Given the description of an element on the screen output the (x, y) to click on. 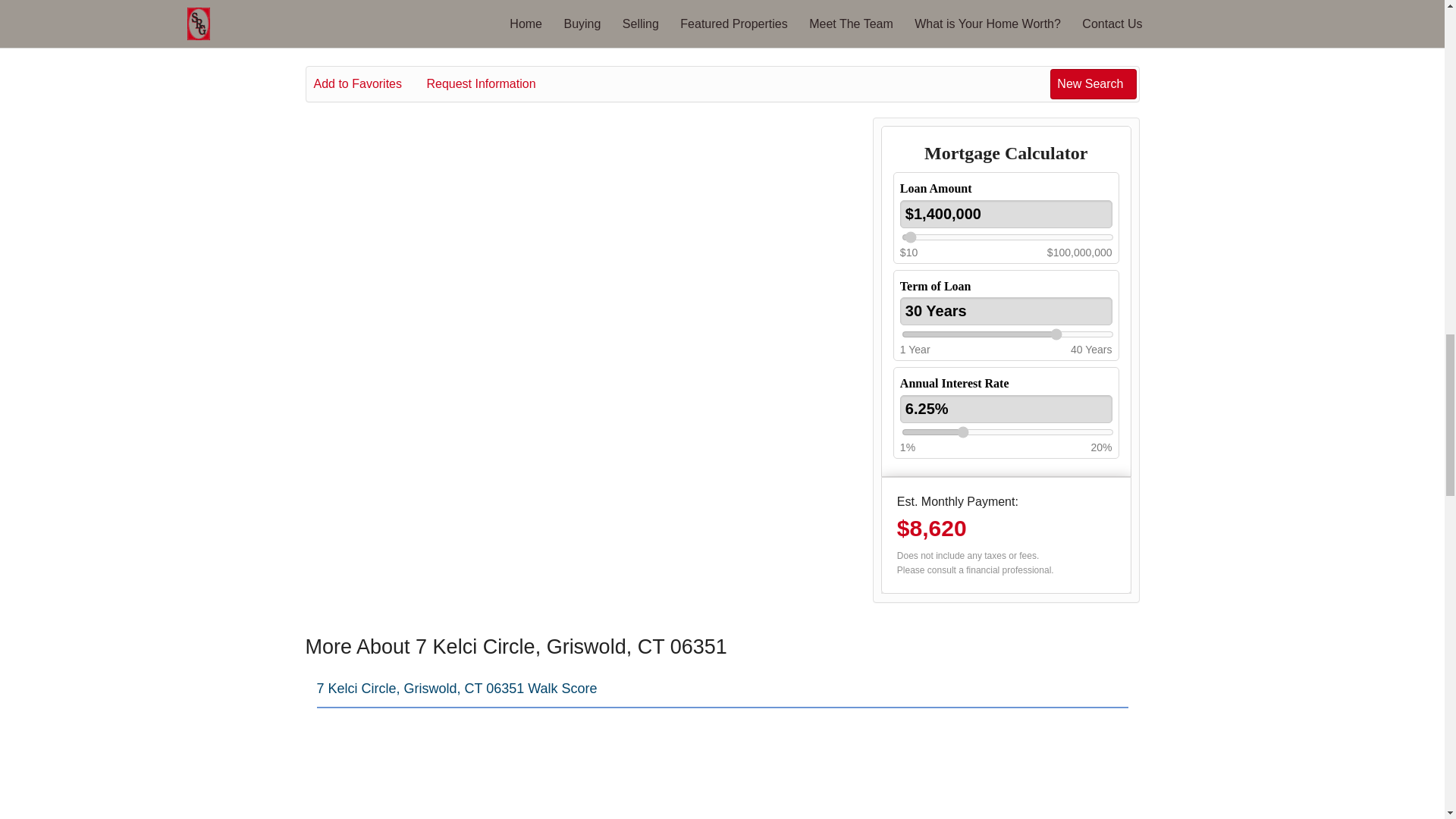
30 (1007, 334)
30 Years (1005, 311)
1400000 (1007, 236)
6.25 (1007, 431)
